Given the description of an element on the screen output the (x, y) to click on. 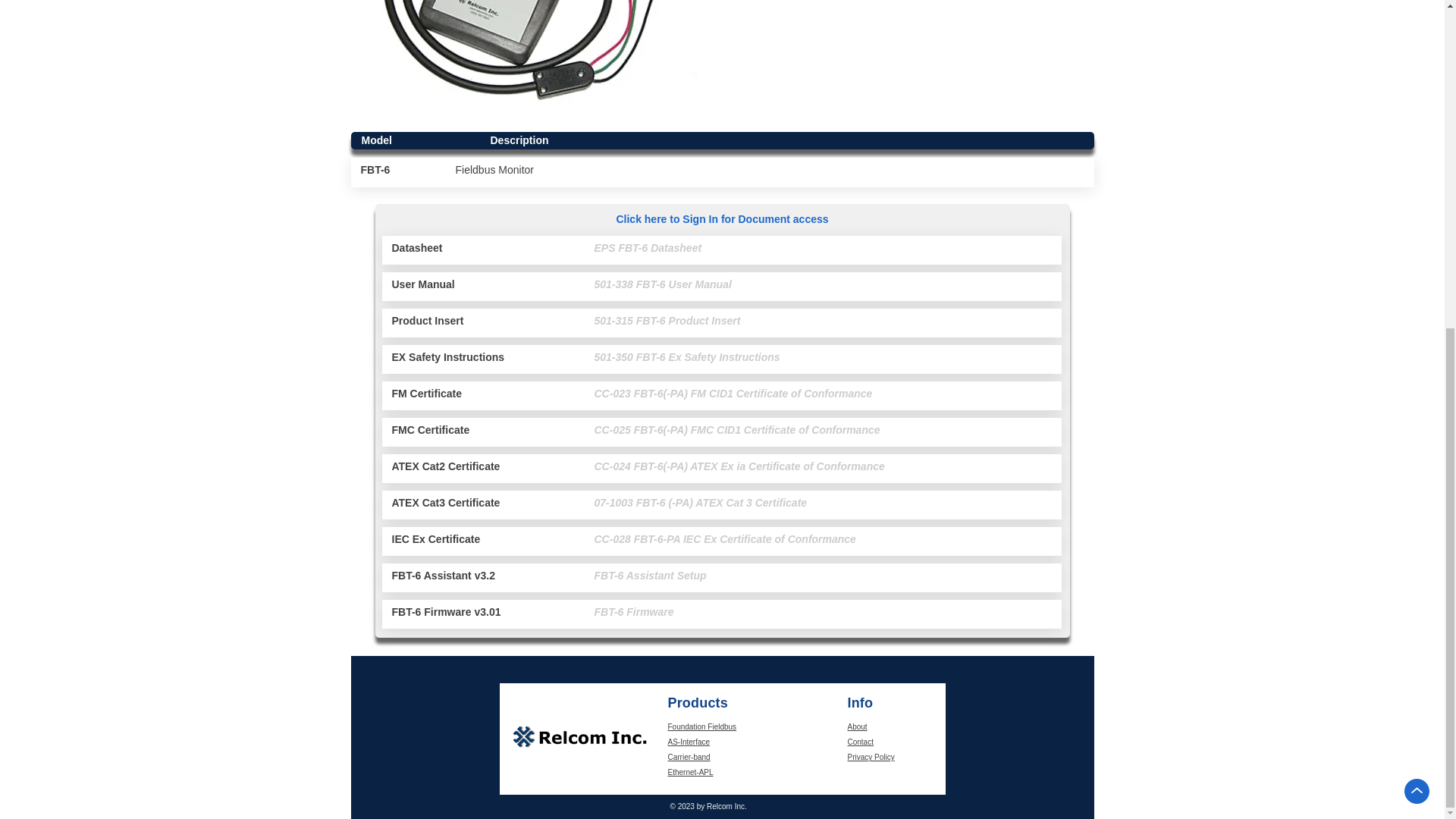
AS-Interface (688, 741)
Privacy Policy (871, 756)
Contact (860, 741)
About (857, 726)
Ethernet-APL (689, 772)
Foundation Fieldbus (701, 726)
Carrier-band (688, 756)
